Given the description of an element on the screen output the (x, y) to click on. 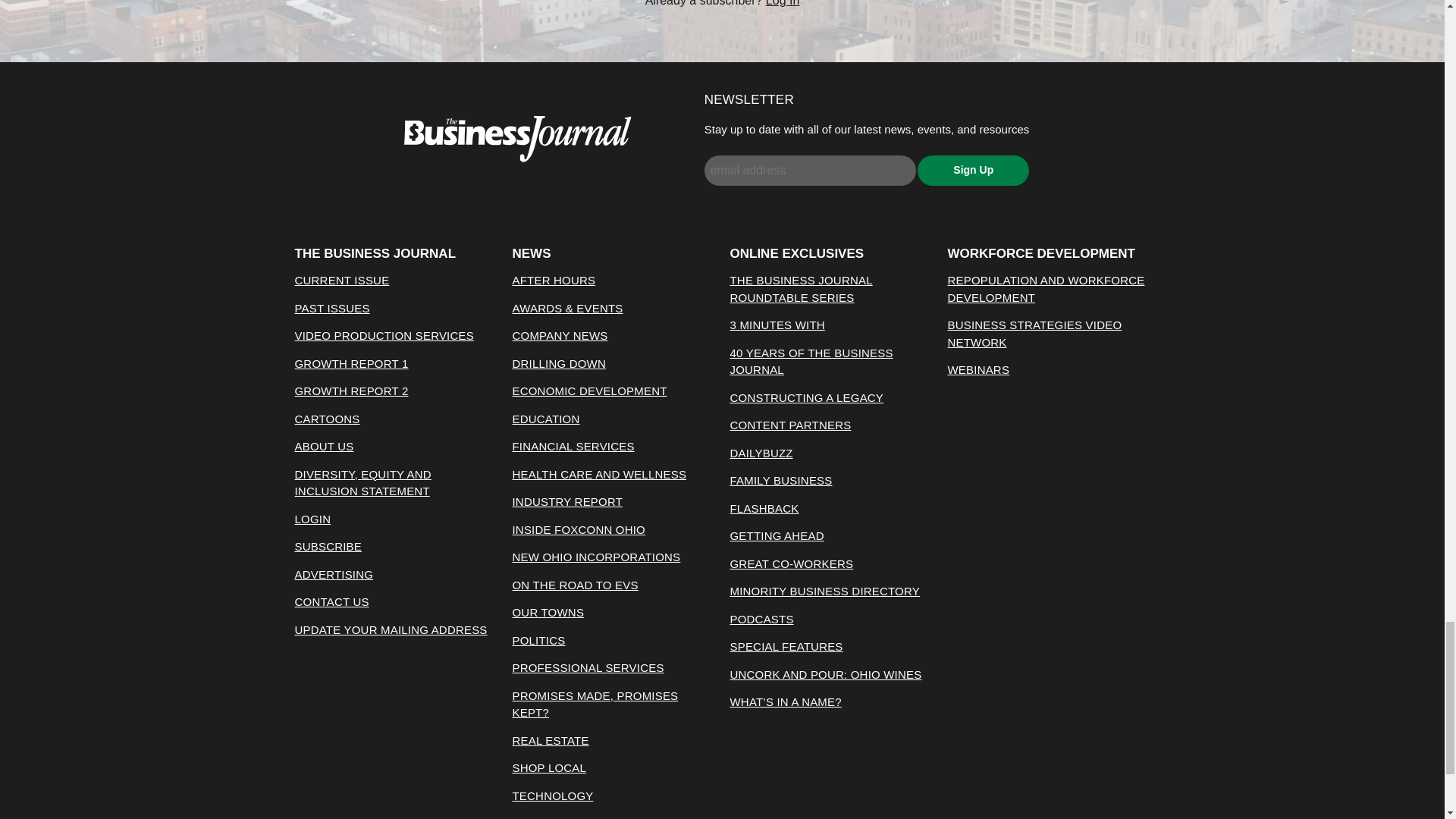
Sign Up (973, 170)
